Given the description of an element on the screen output the (x, y) to click on. 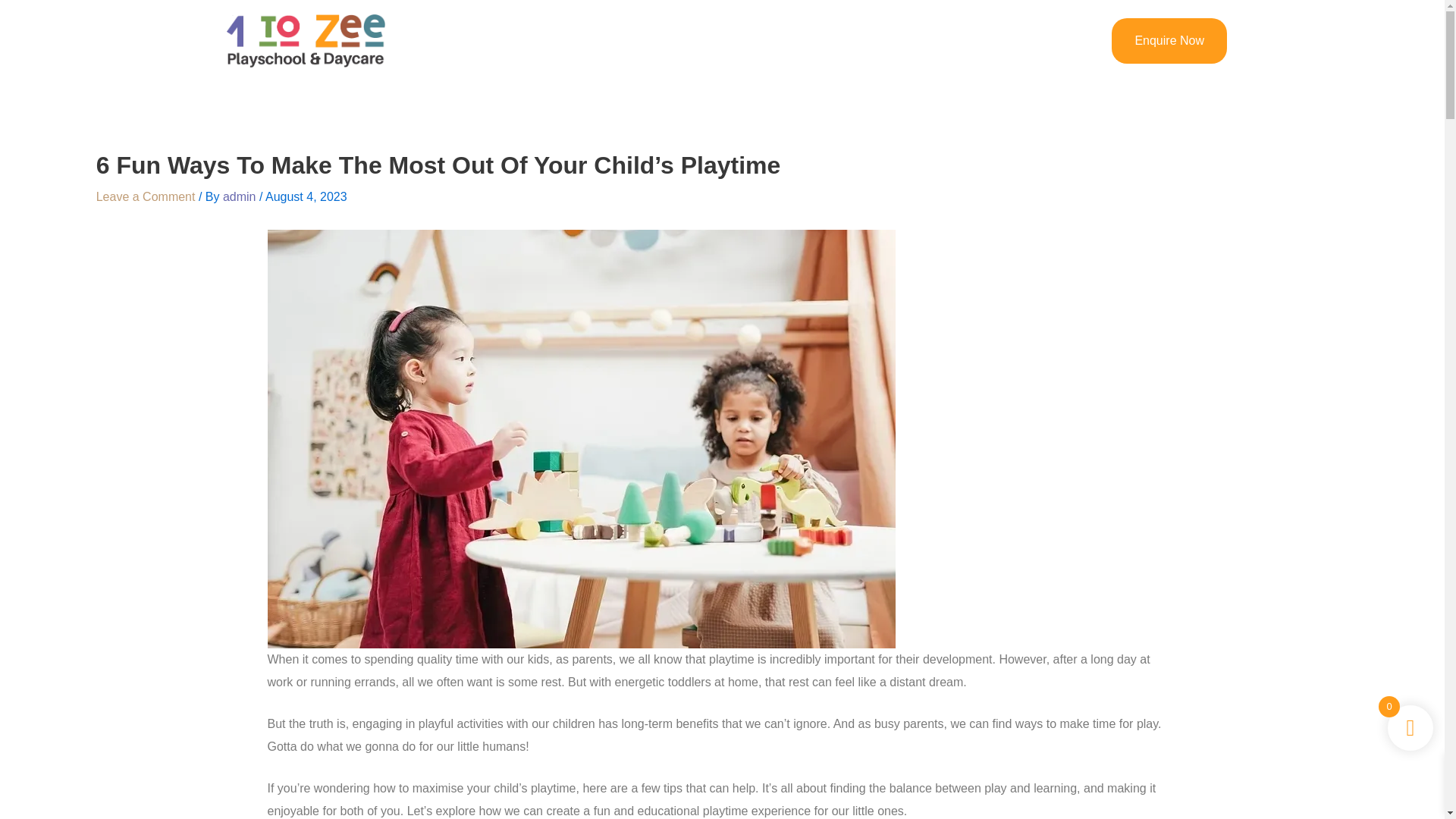
Packages (742, 40)
Enquire Now (1169, 40)
About Us (660, 40)
admin (240, 196)
View all posts by admin (240, 196)
Leave a Comment (145, 196)
Home (589, 40)
Gallery (874, 40)
Blogs (812, 40)
